Given the description of an element on the screen output the (x, y) to click on. 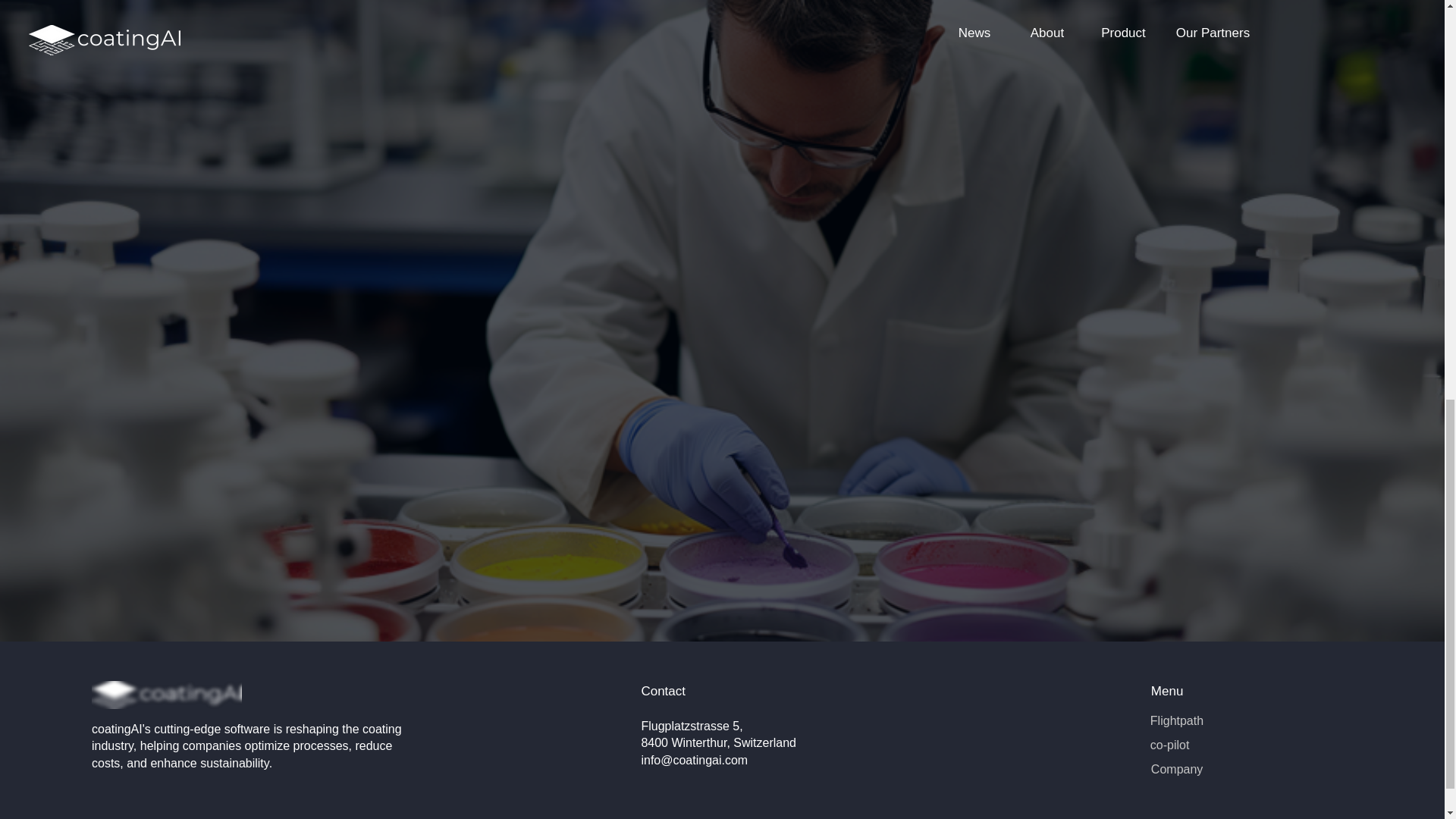
Company (1176, 768)
Flightpath (1177, 720)
co-pilot (1169, 744)
